Given the description of an element on the screen output the (x, y) to click on. 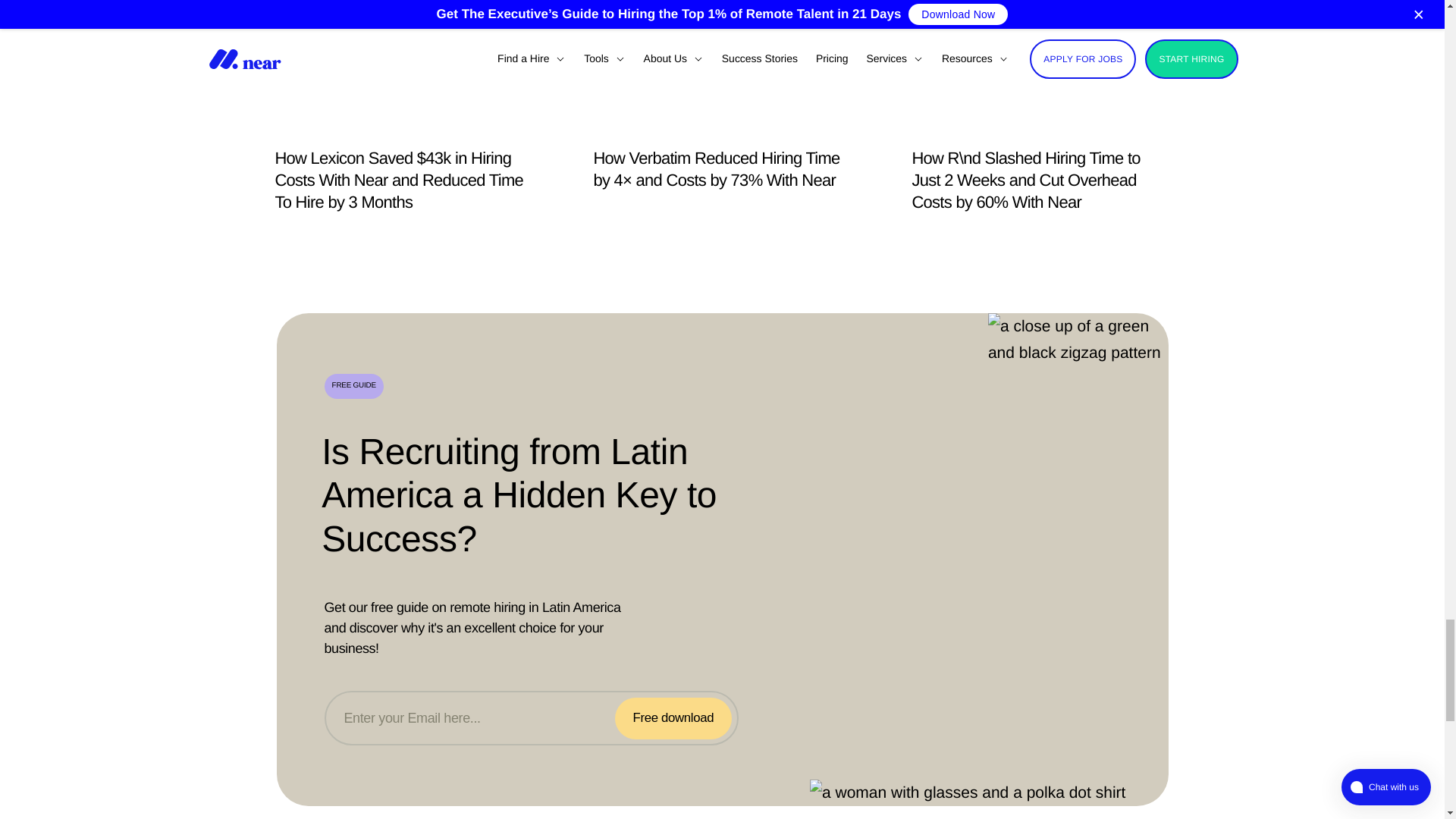
Free download (673, 718)
